Given the description of an element on the screen output the (x, y) to click on. 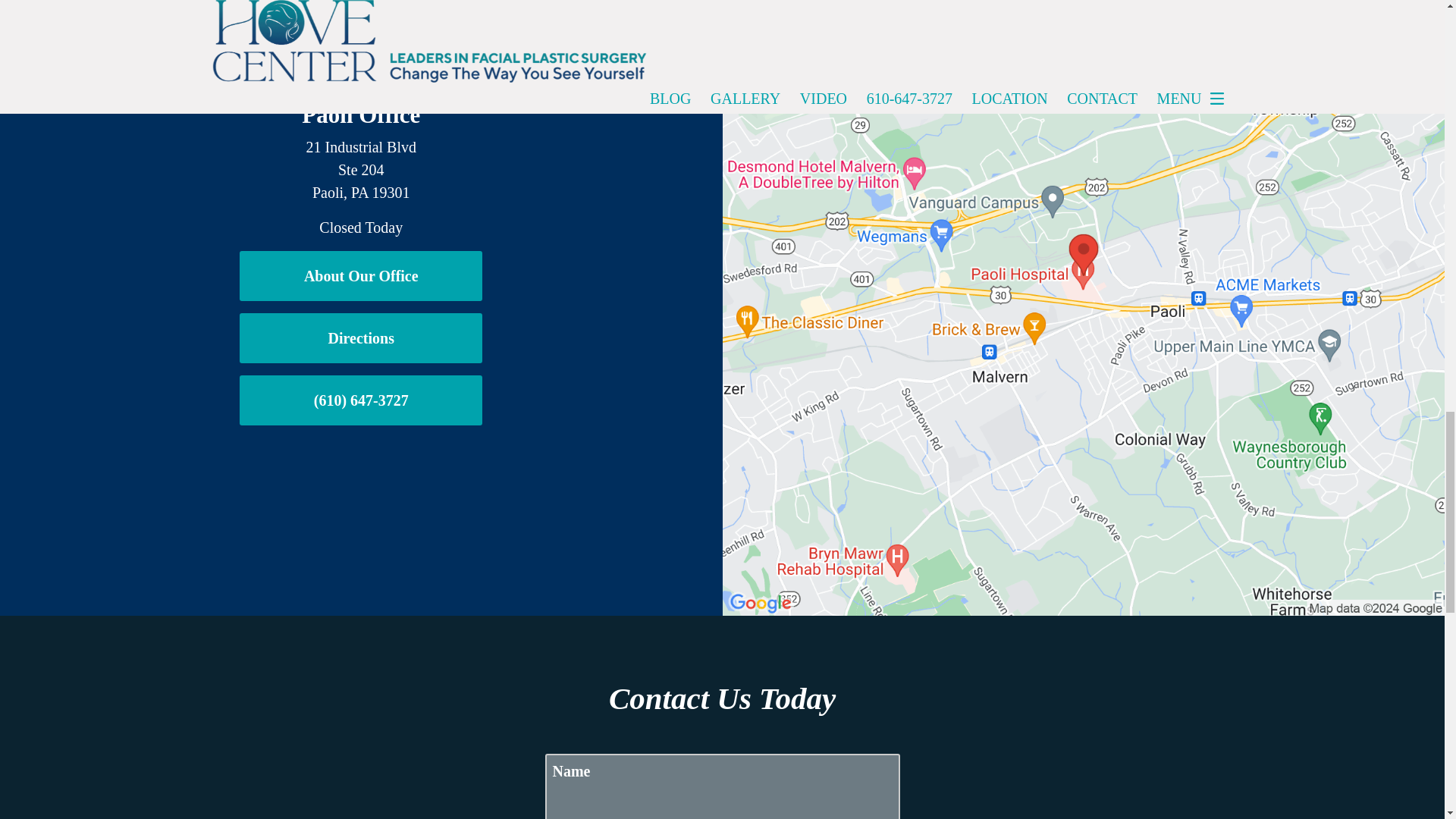
Directions (360, 337)
Paoli Office (360, 114)
About Our Office (360, 275)
